Given the description of an element on the screen output the (x, y) to click on. 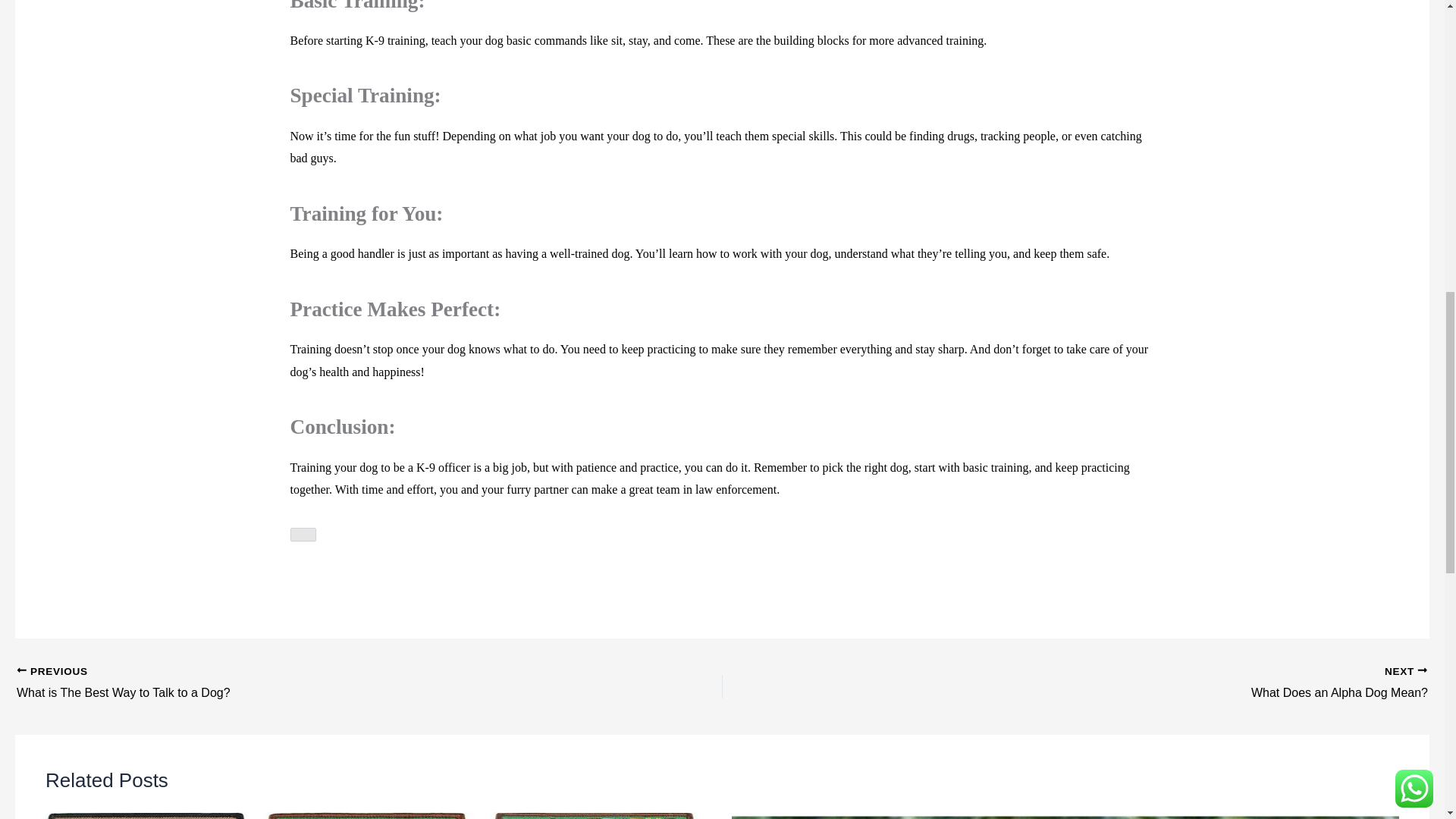
What is The Best Way to Talk to a Dog? (299, 683)
What Does an Alpha Dog Mean? (299, 683)
